Given the description of an element on the screen output the (x, y) to click on. 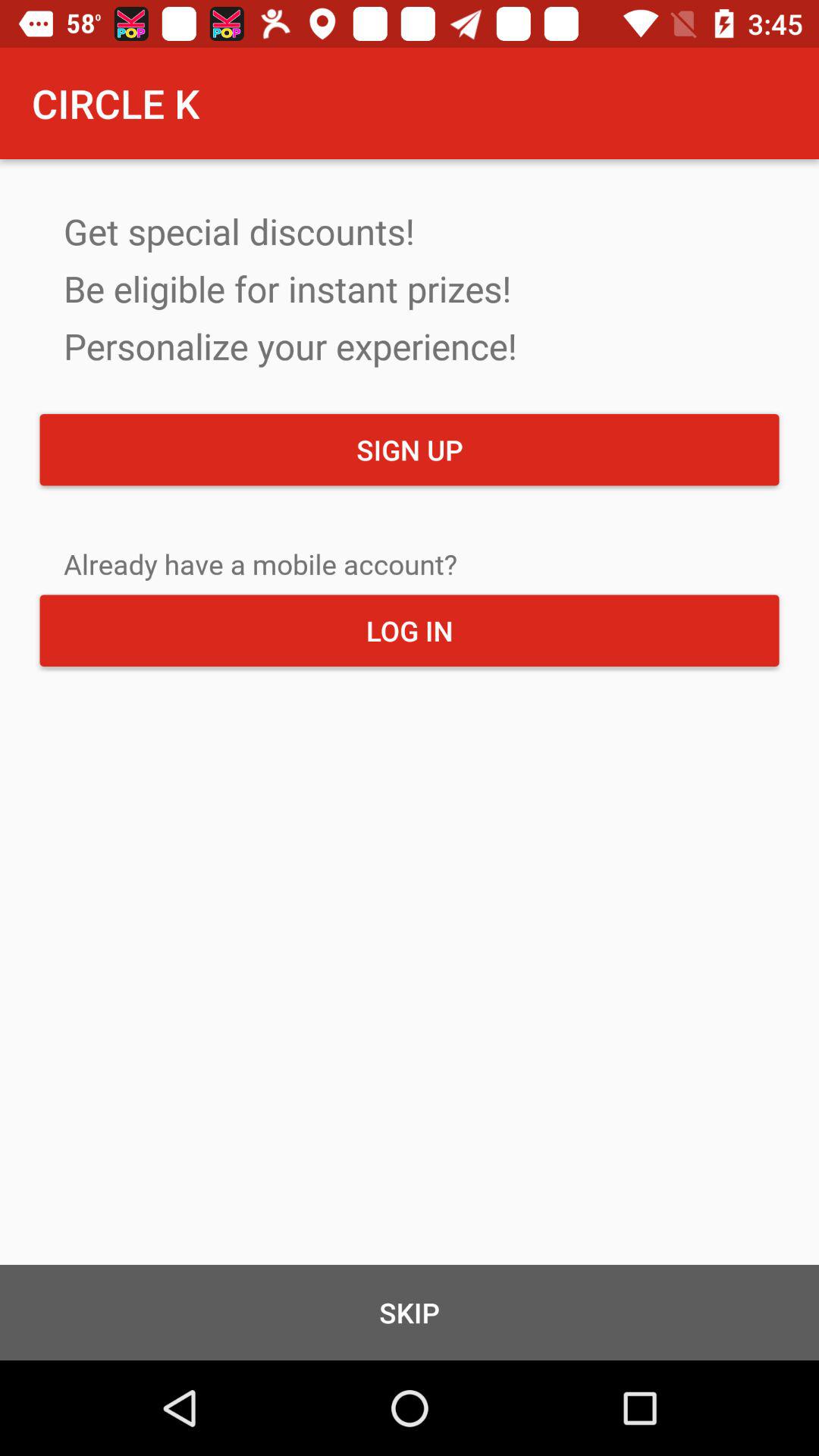
jump to the sign up item (409, 449)
